Given the description of an element on the screen output the (x, y) to click on. 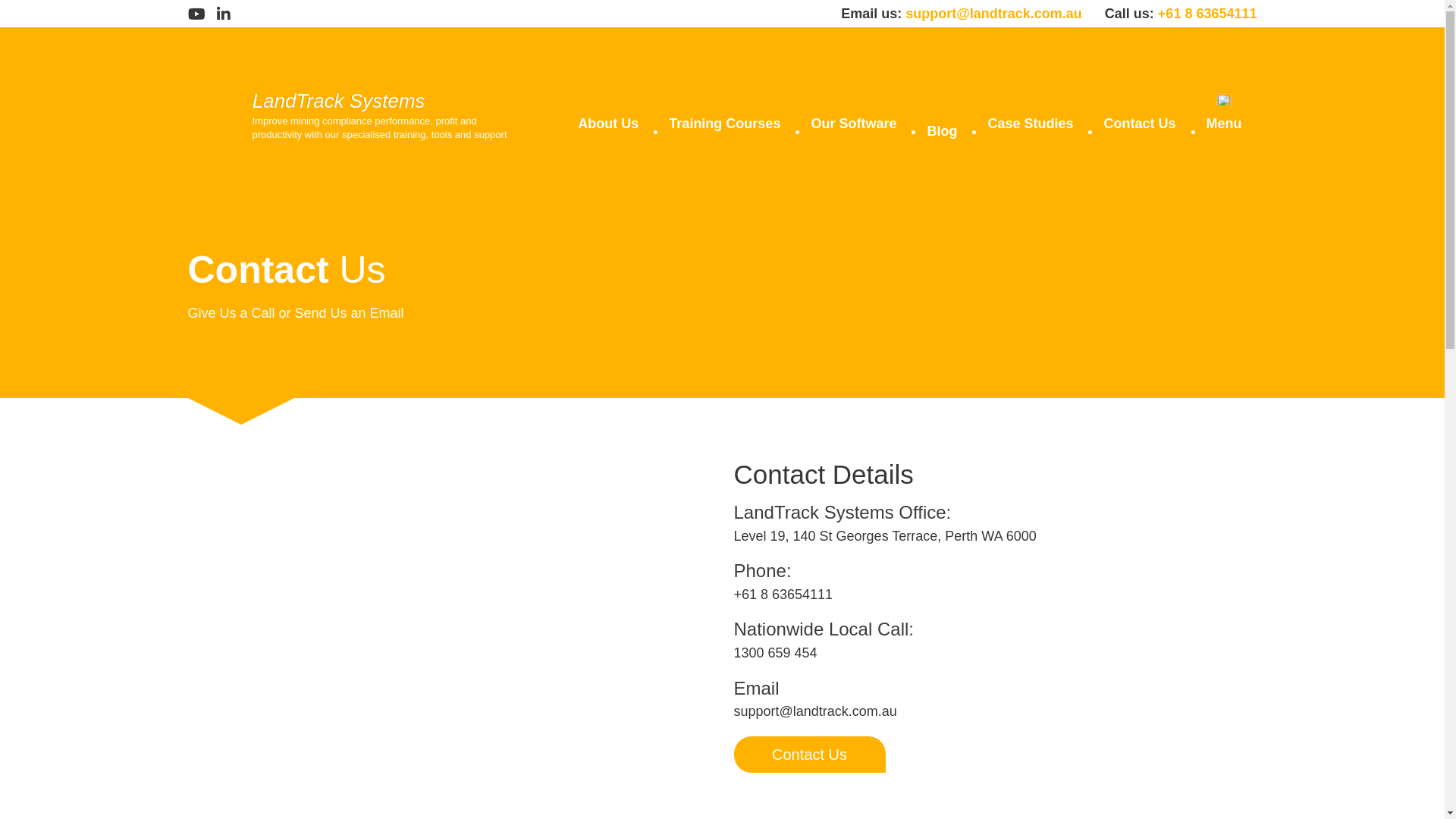
Case Studies Element type: text (1030, 110)
+61 8 63654111 Element type: text (783, 594)
Contact Us Element type: text (1139, 110)
Blog Element type: text (941, 114)
Menu Element type: text (1223, 110)
Training Courses Element type: text (724, 110)
Contact Us Element type: text (809, 754)
About Us Element type: text (607, 110)
Our Software Element type: text (853, 110)
+61 8 63654111 Element type: text (1207, 13)
1300 659 454 Element type: text (775, 652)
support@landtrack.com.au Element type: text (993, 13)
support@landtrack.com.au Element type: text (815, 710)
